Given the description of an element on the screen output the (x, y) to click on. 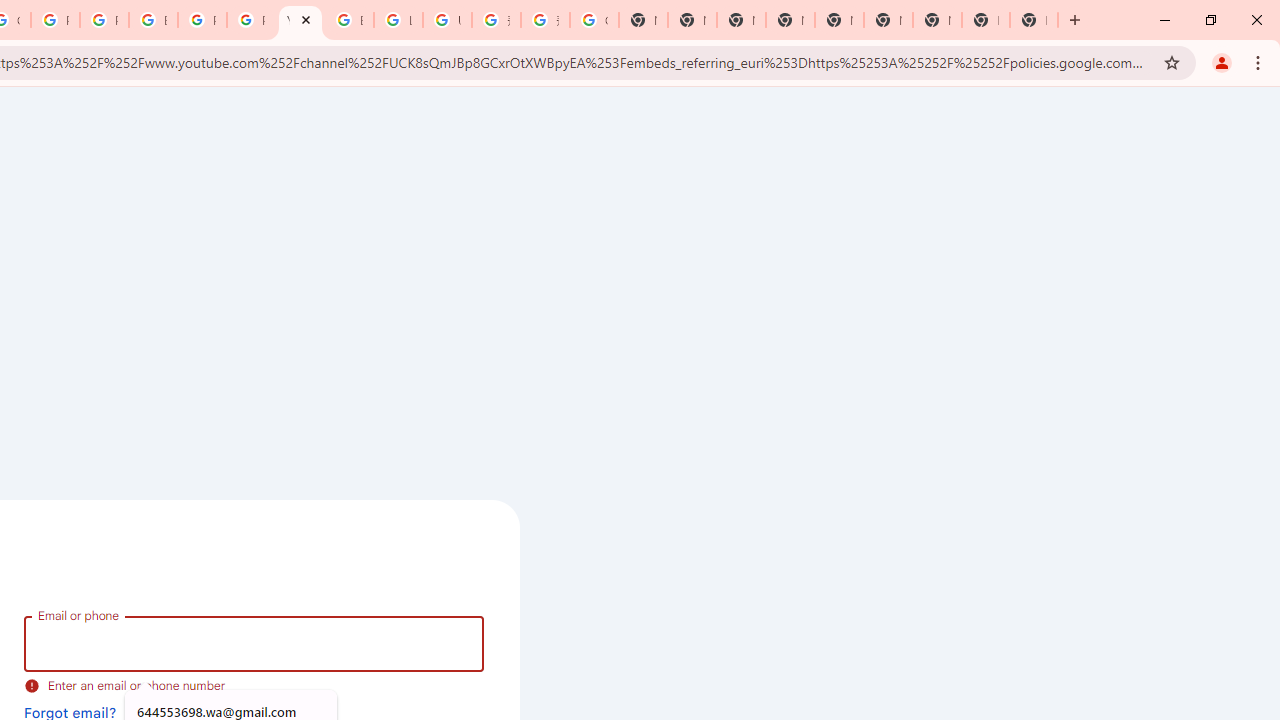
Privacy Help Center - Policies Help (104, 20)
Google Images (594, 20)
YouTube (300, 20)
Email or phone (253, 643)
New Tab (1033, 20)
Privacy Help Center - Policies Help (55, 20)
New Tab (790, 20)
